Given the description of an element on the screen output the (x, y) to click on. 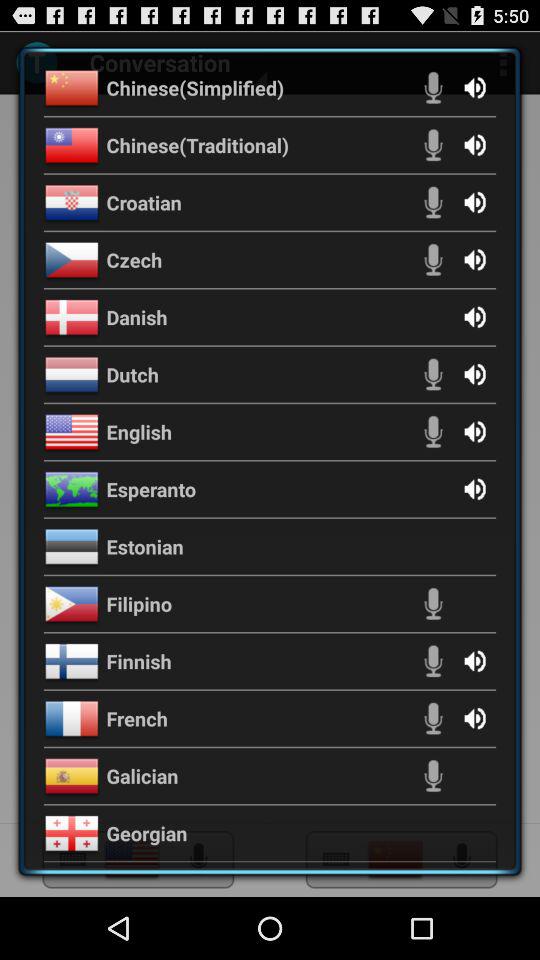
swipe until the chinese(simplified) item (195, 87)
